Given the description of an element on the screen output the (x, y) to click on. 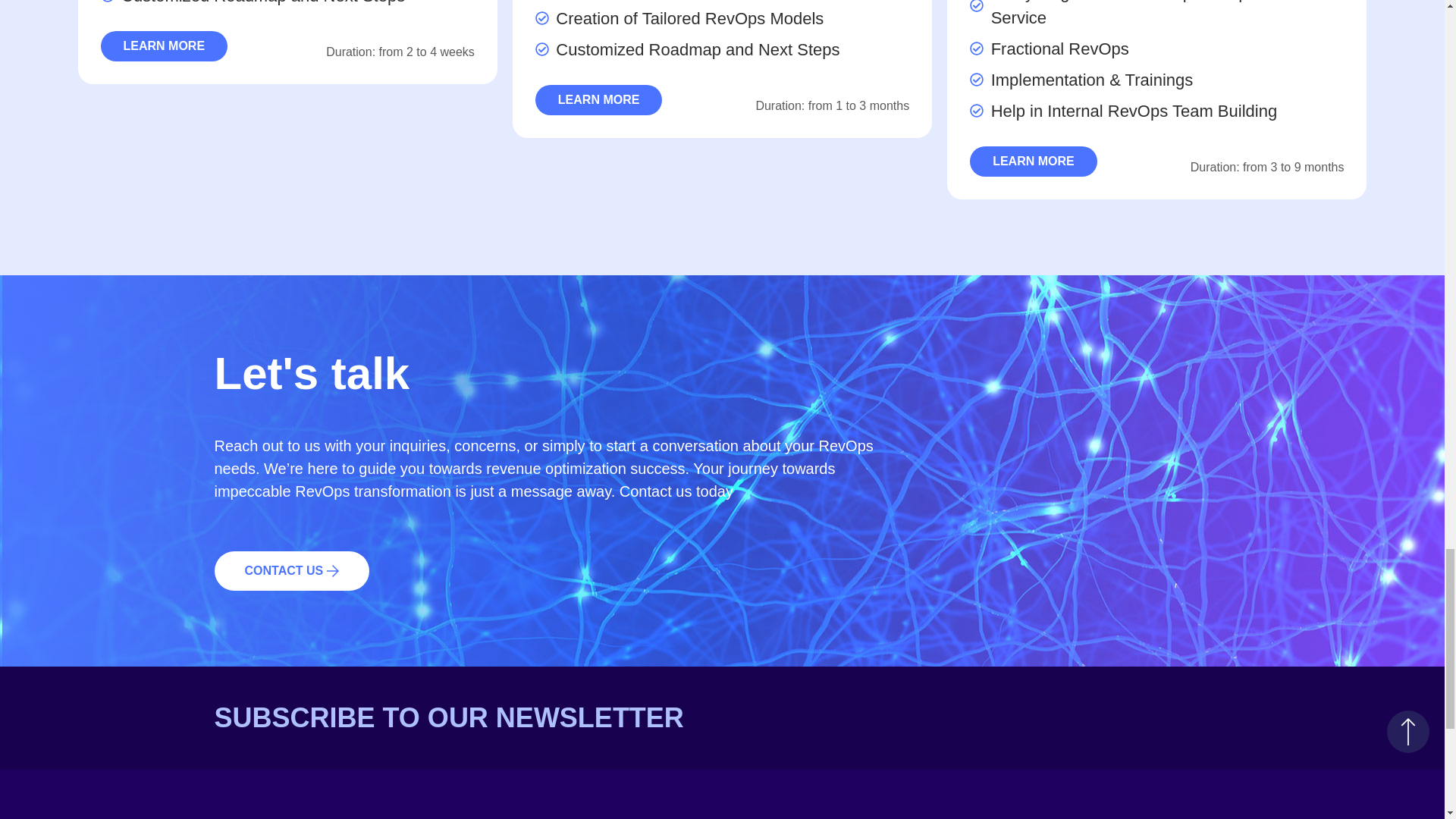
CONTACT US (291, 570)
LEARN MORE (163, 46)
LEARN MORE (598, 100)
LEARN MORE (1033, 161)
